Given the description of an element on the screen output the (x, y) to click on. 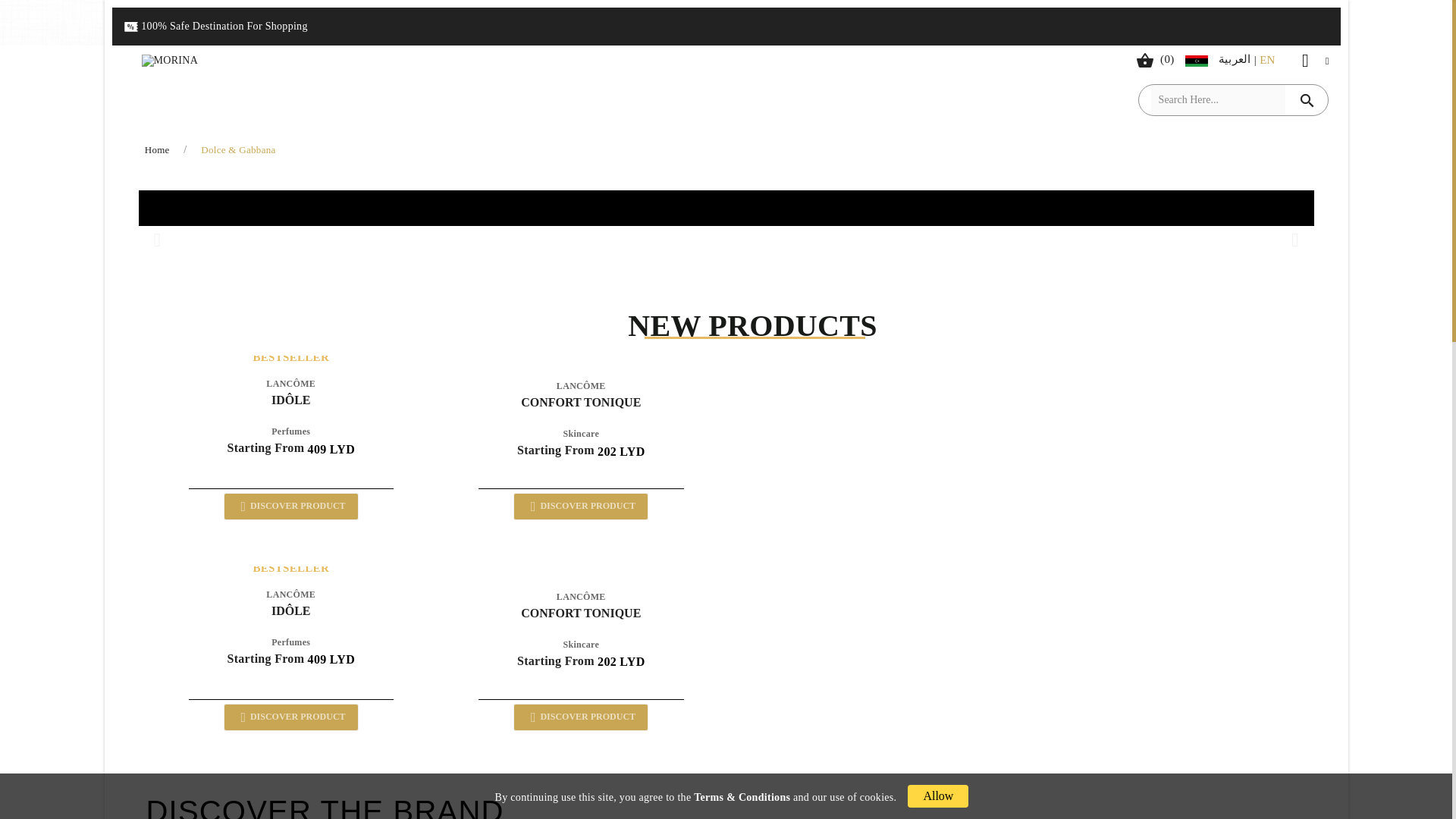
CONFORT TONIQUE (581, 410)
Discover Product (580, 506)
EN (1267, 59)
Allow (937, 795)
Home (158, 149)
CONFORT TONIQUE (581, 620)
Discover Product (291, 717)
EN (1267, 59)
Cart (1151, 59)
Discover Product (580, 717)
